Given the description of an element on the screen output the (x, y) to click on. 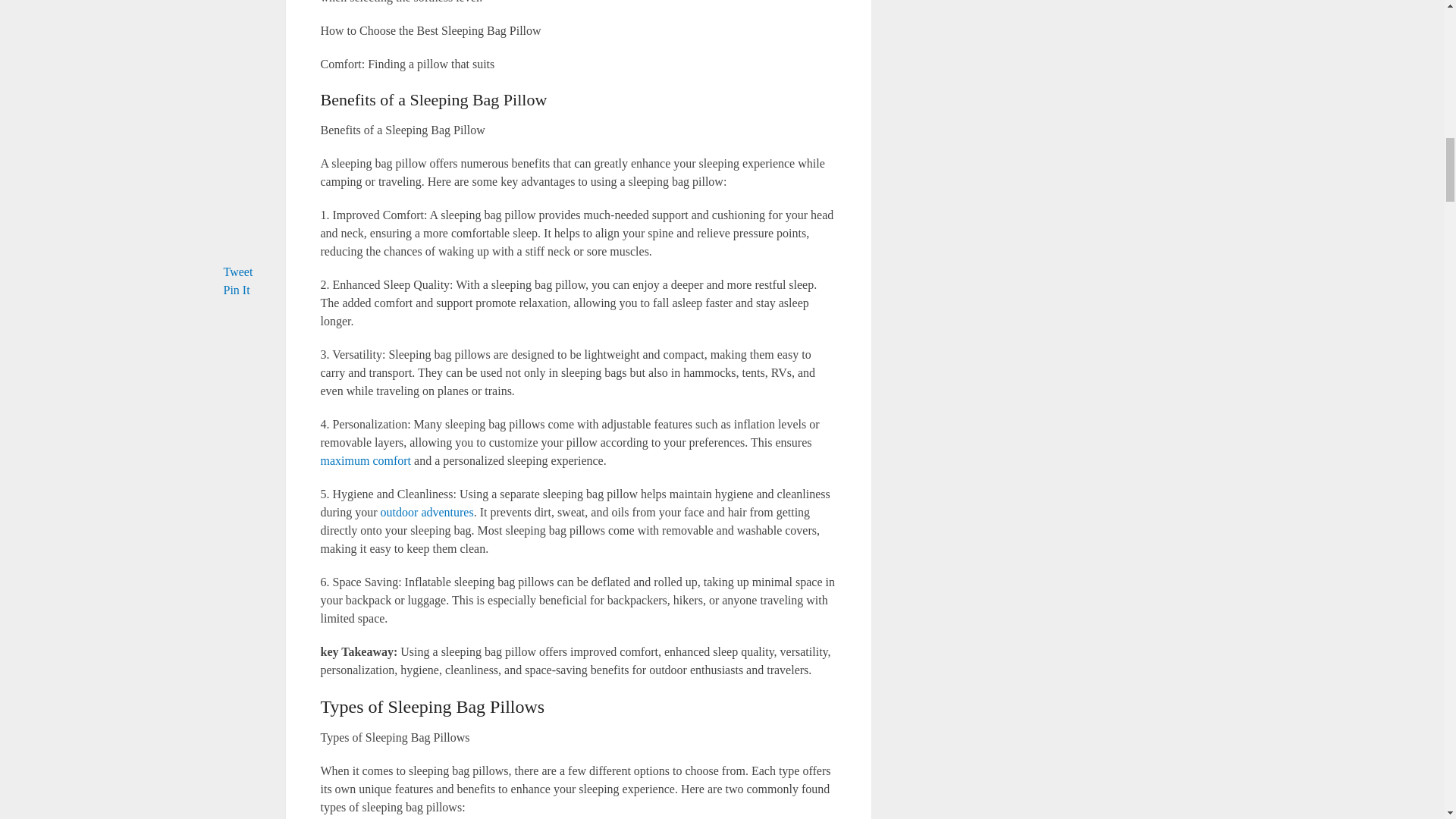
maximum comfort (365, 460)
outdoor adventures (427, 512)
